Given the description of an element on the screen output the (x, y) to click on. 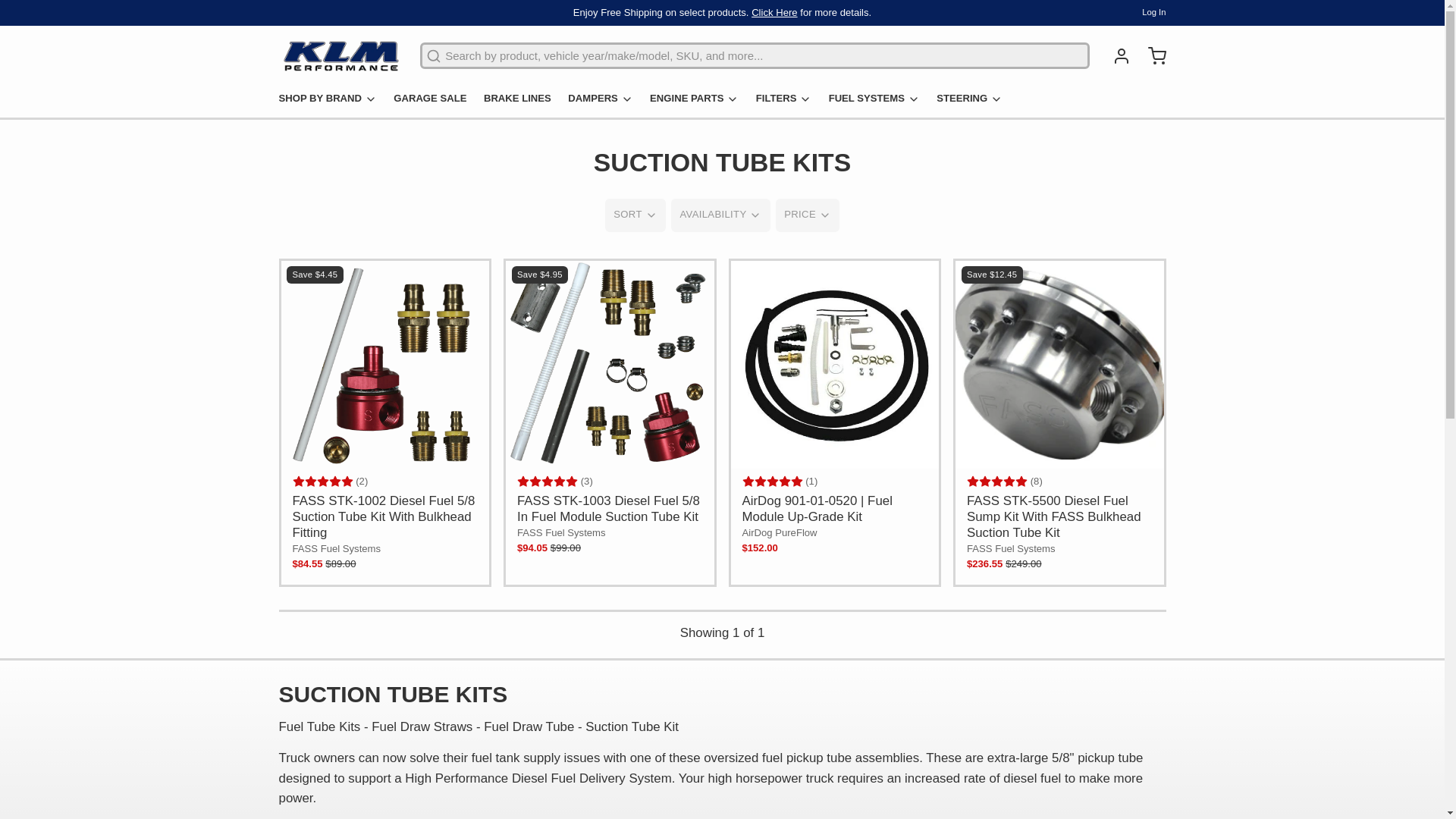
GARAGE SALE (435, 101)
Log In (1153, 12)
Cart (1150, 55)
BRAKE LINES (522, 101)
SHOP BY BRAND (333, 101)
Click Here (773, 11)
 Log In (1115, 55)
KLM Performance (341, 55)
Shipping Policy (773, 11)
